Given the description of an element on the screen output the (x, y) to click on. 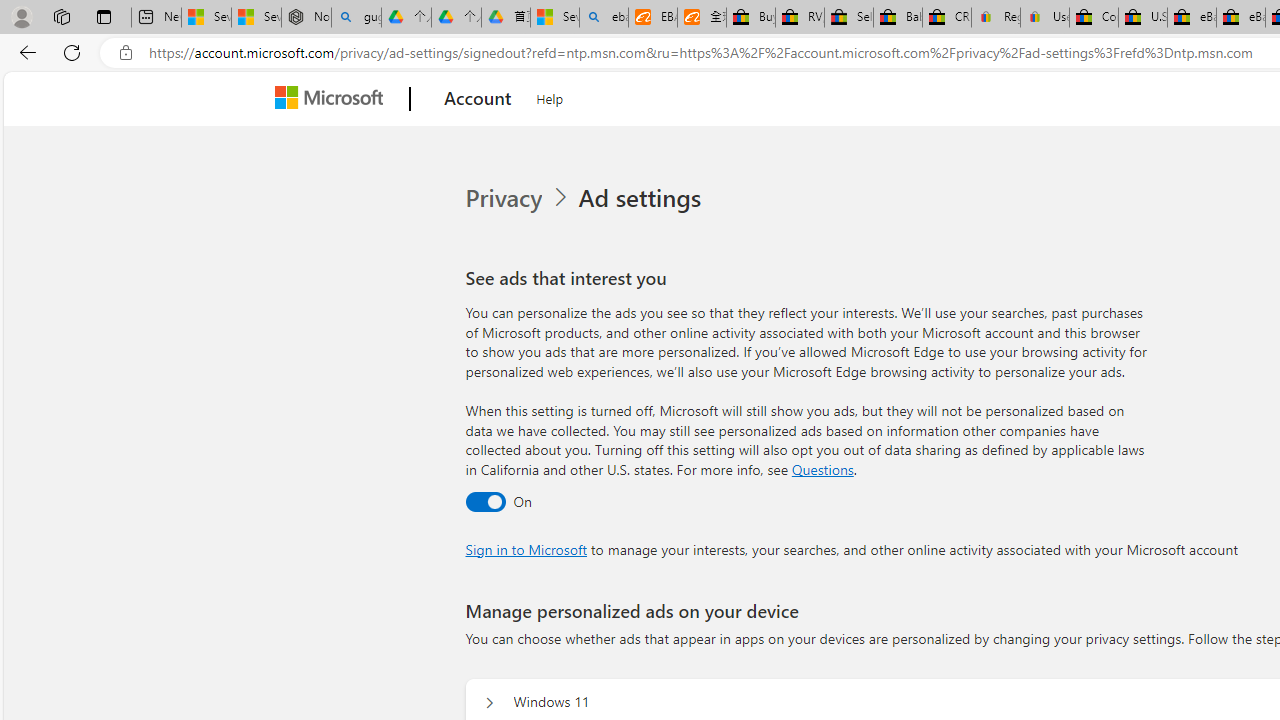
U.S. State Privacy Disclosures - eBay Inc. (1142, 17)
eBay Inc. Reports Third Quarter 2023 Results (1240, 17)
guge yunpan - Search (356, 17)
User Privacy Notice | eBay (1044, 17)
Microsoft (332, 99)
Privacy (519, 197)
Sell worldwide with eBay (848, 17)
Help (550, 96)
